Given the description of an element on the screen output the (x, y) to click on. 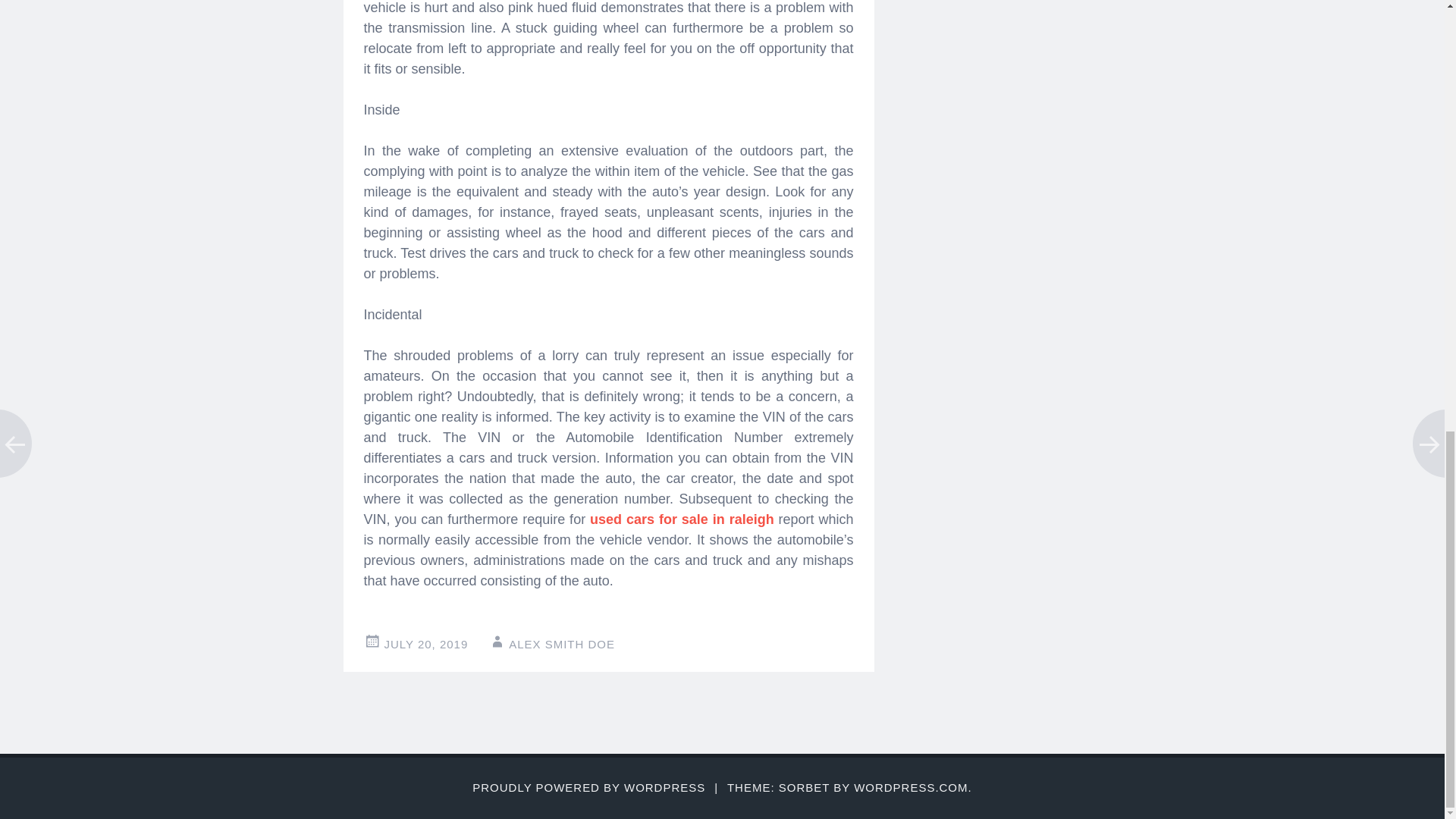
4:47 am (425, 644)
View all posts by Alex Smith Doe (561, 644)
